Given the description of an element on the screen output the (x, y) to click on. 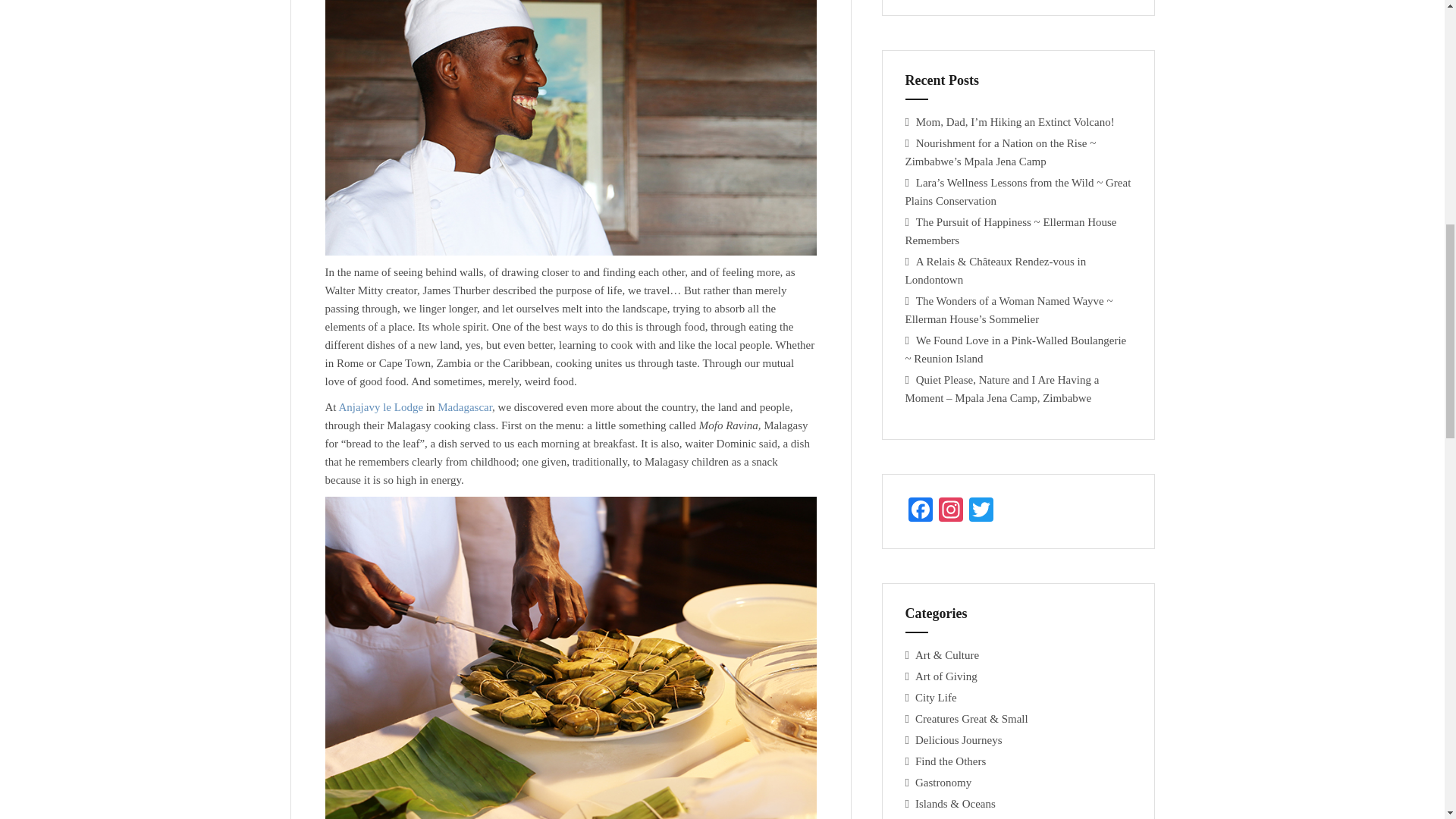
Facebook (920, 511)
Madagascar (465, 407)
Facebook (920, 511)
Twitter (980, 511)
Anjajavy le Lodge (380, 407)
Twitter (980, 511)
Instagram (951, 511)
Instagram (951, 511)
